Given the description of an element on the screen output the (x, y) to click on. 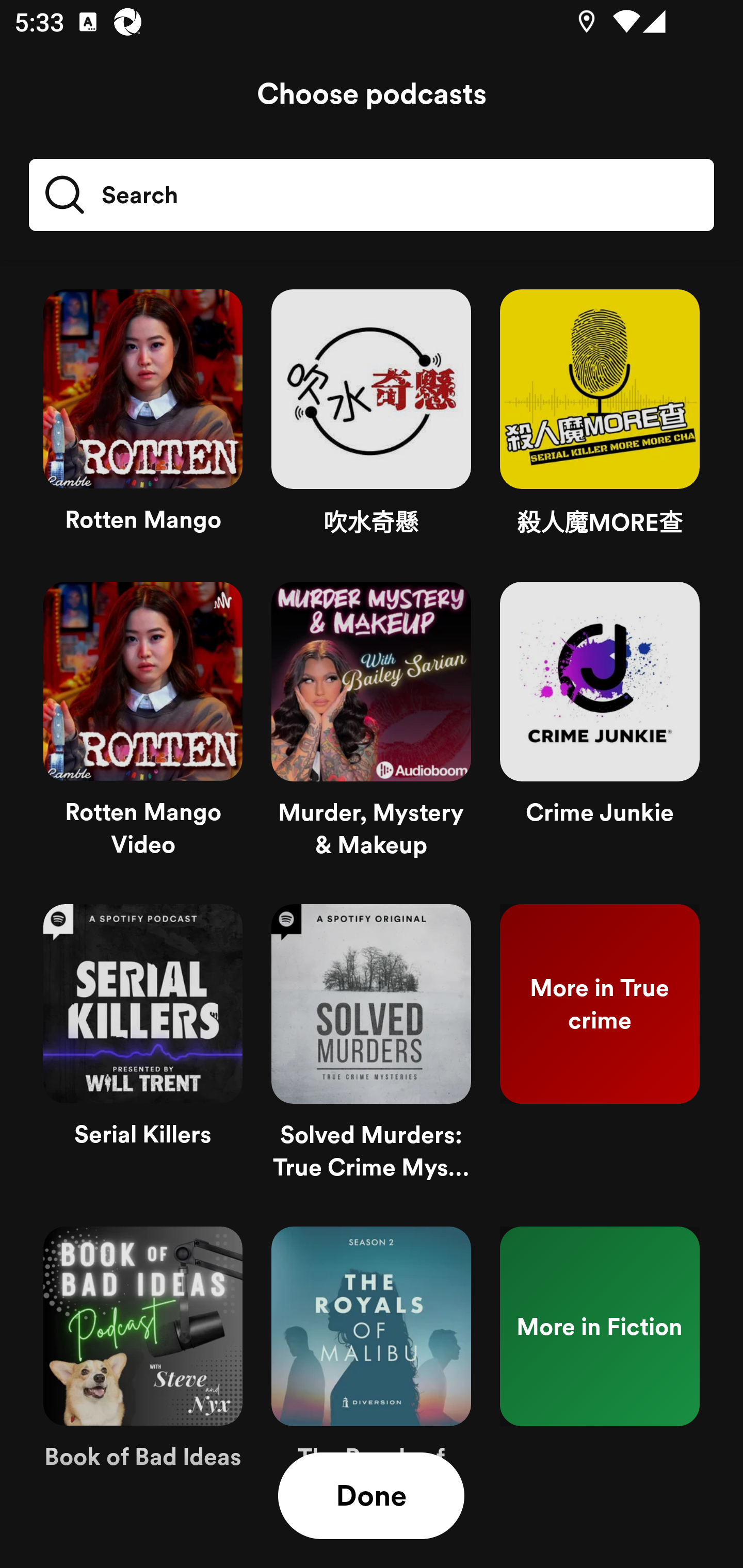
Search (371, 195)
Search (110, 195)
Rotten Mango unselected Rotten Mango (142, 420)
吹水奇懸 unselected 吹水奇懸 (371, 420)
殺人魔MORE查 unselected 殺人魔MORE查 (599, 420)
Rotten Mango Video unselected Rotten Mango Video (142, 728)
Crime Junkie unselected Crime Junkie (599, 728)
Serial Killers unselected Serial Killers (142, 1050)
More in True crime (599, 1050)
Book of Bad Ideas unselected Book of Bad Ideas (142, 1373)
More in Fiction (599, 1373)
Done (370, 1495)
